Given the description of an element on the screen output the (x, y) to click on. 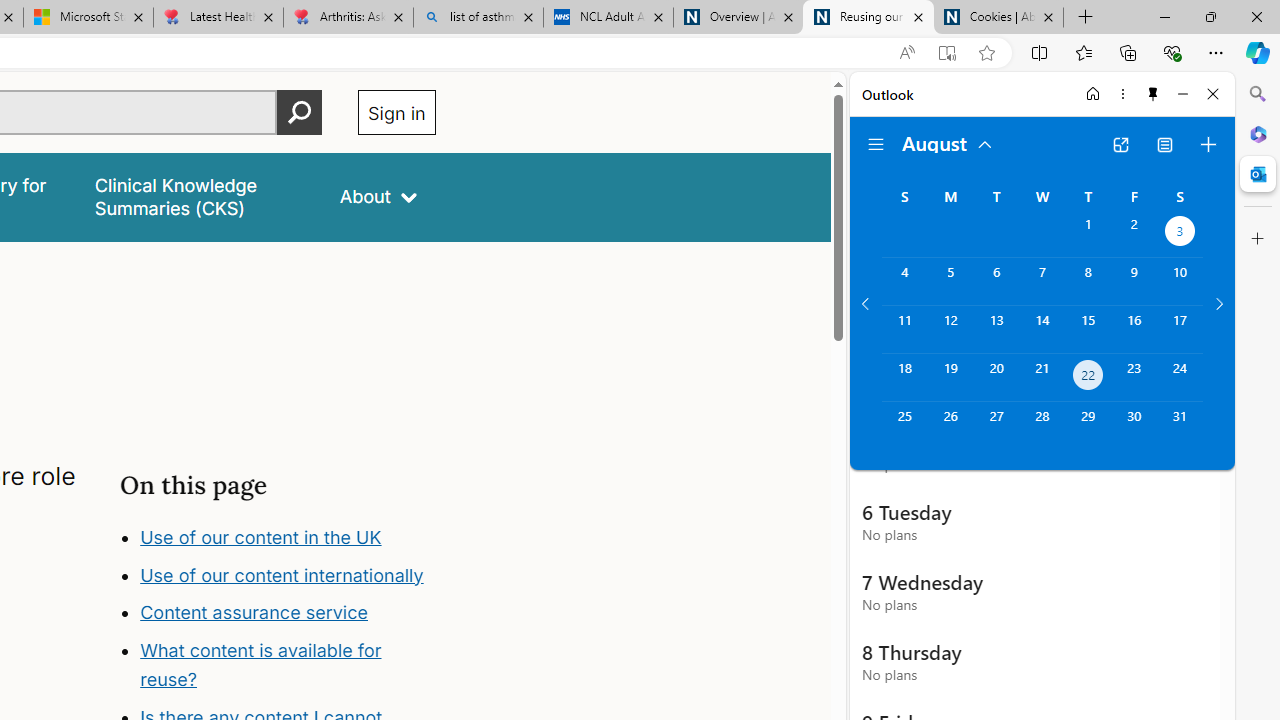
Saturday, August 31, 2024.  (1180, 425)
Content assurance service (253, 612)
Monday, August 26, 2024.  (950, 425)
false (198, 196)
Cookies | About | NICE (998, 17)
Monday, August 5, 2024.  (950, 281)
Wednesday, August 21, 2024.  (1042, 377)
Thursday, August 1, 2024.  (1088, 233)
Monday, August 12, 2024.  (950, 329)
